Given the description of an element on the screen output the (x, y) to click on. 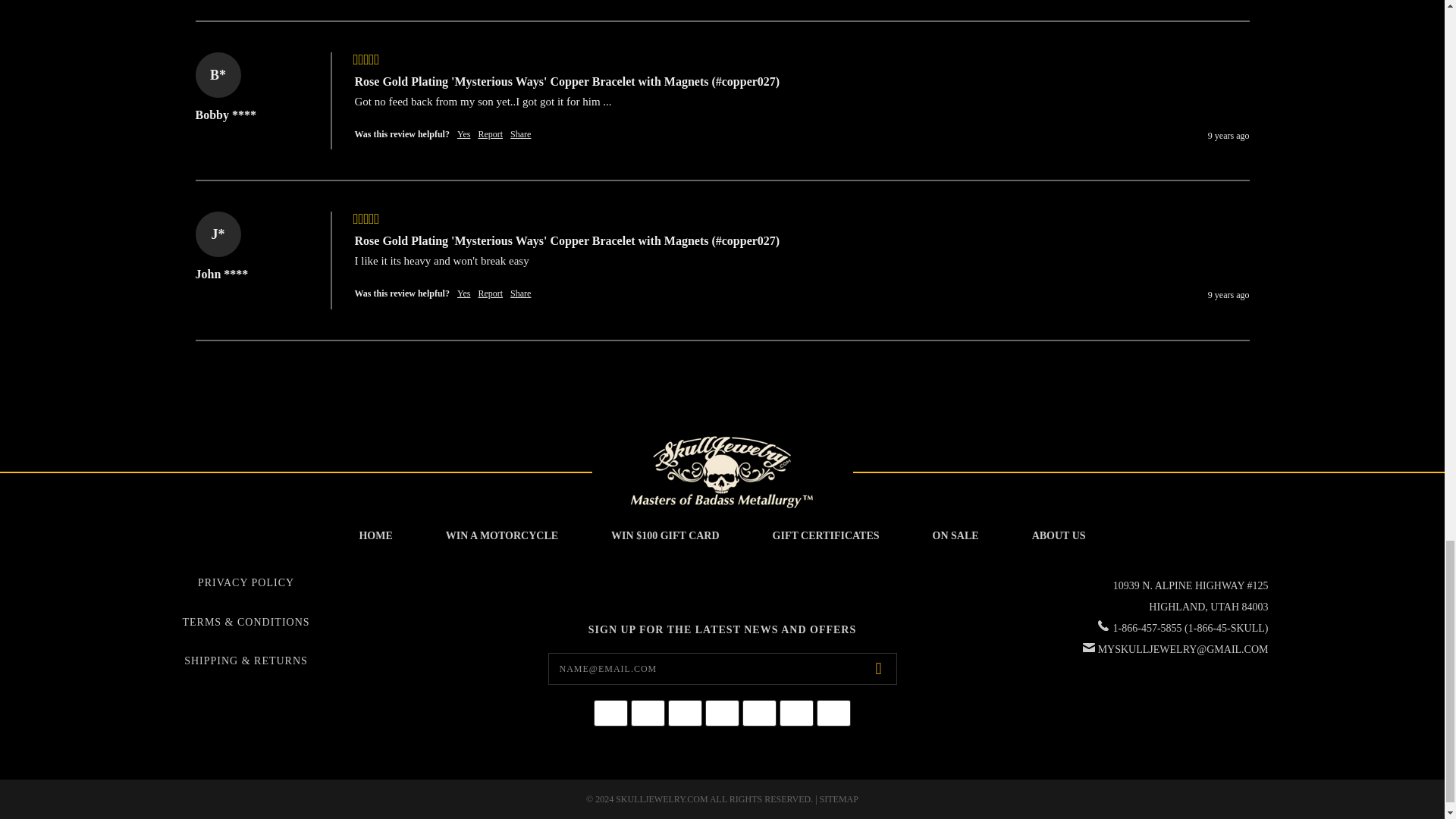
5 Stars (366, 219)
5 Stars (366, 60)
SkullJewelry.com (721, 472)
